Given the description of an element on the screen output the (x, y) to click on. 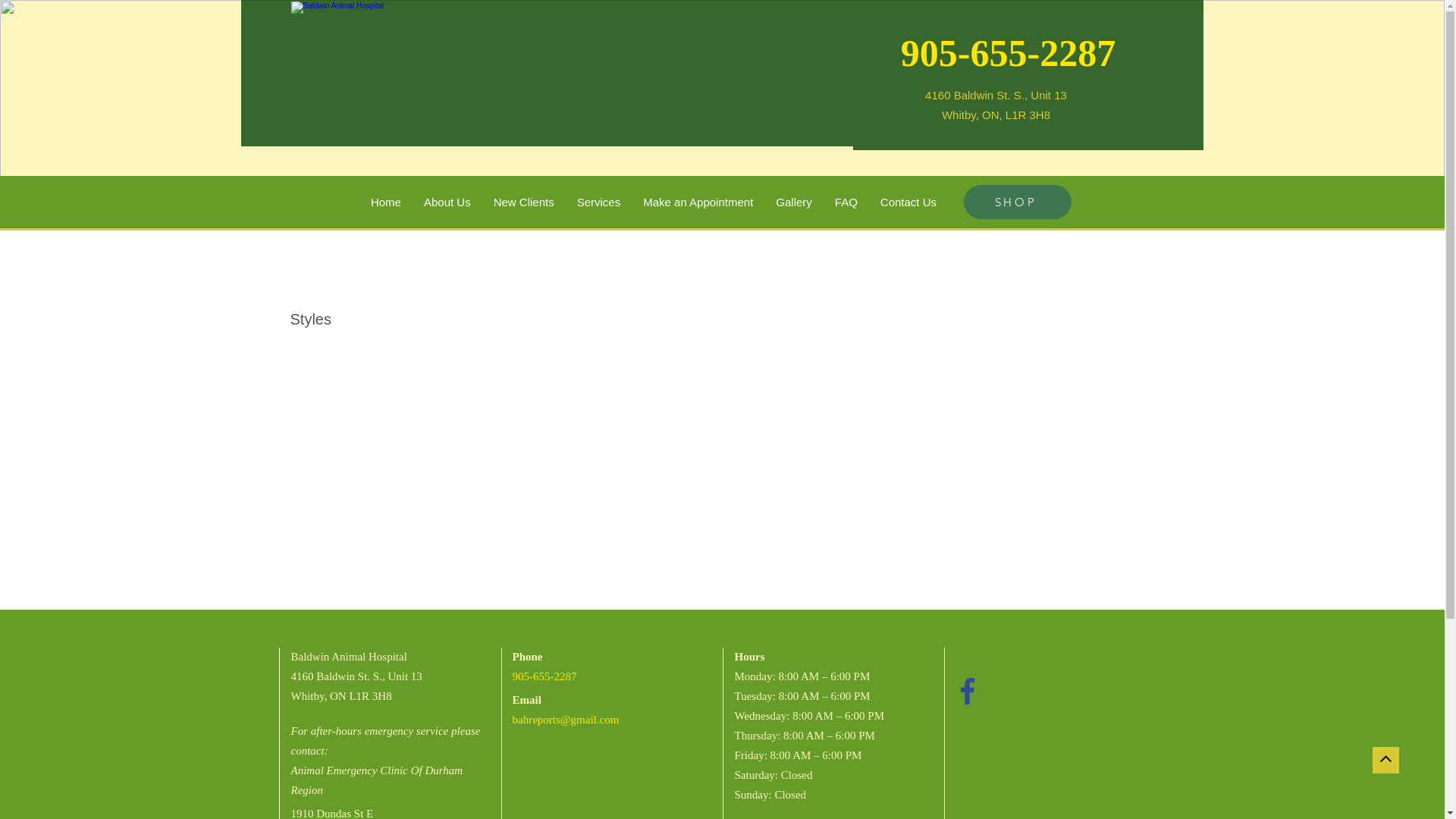
Gallery Element type: text (793, 201)
Contact Us Element type: text (908, 201)
905-655-2287 Element type: text (544, 676)
Baldwin Animal Hospital Element type: hover (537, 72)
SHOP Element type: text (1016, 202)
bahreports@gmail.com Element type: text (565, 719)
Make an Appointment Element type: text (697, 201)
FAQ Element type: text (846, 201)
Services Element type: text (598, 201)
905-655-2287 Element type: text (1007, 52)
Embedded Content Element type: hover (961, 731)
Home Element type: text (385, 201)
Embedded Content Element type: hover (988, 660)
About Us Element type: text (447, 201)
New Clients Element type: text (523, 201)
